Given the description of an element on the screen output the (x, y) to click on. 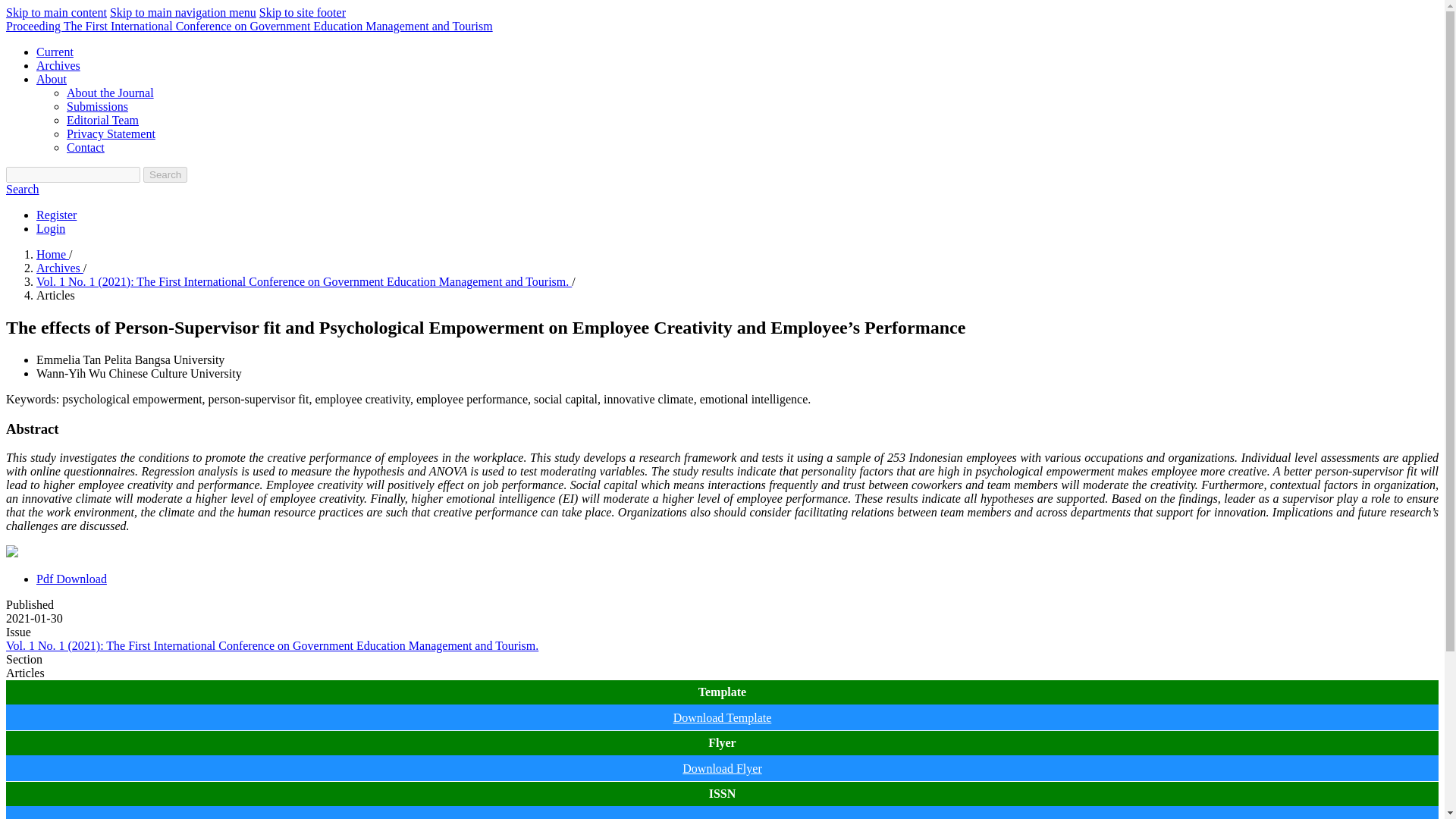
Privacy Statement (110, 133)
Skip to main navigation menu (183, 11)
Register (56, 214)
Archives (58, 65)
Editorial Team (102, 119)
About the Journal (110, 92)
About (51, 78)
Search (164, 174)
Pdf Download (71, 578)
Skip to site footer (302, 11)
